Given the description of an element on the screen output the (x, y) to click on. 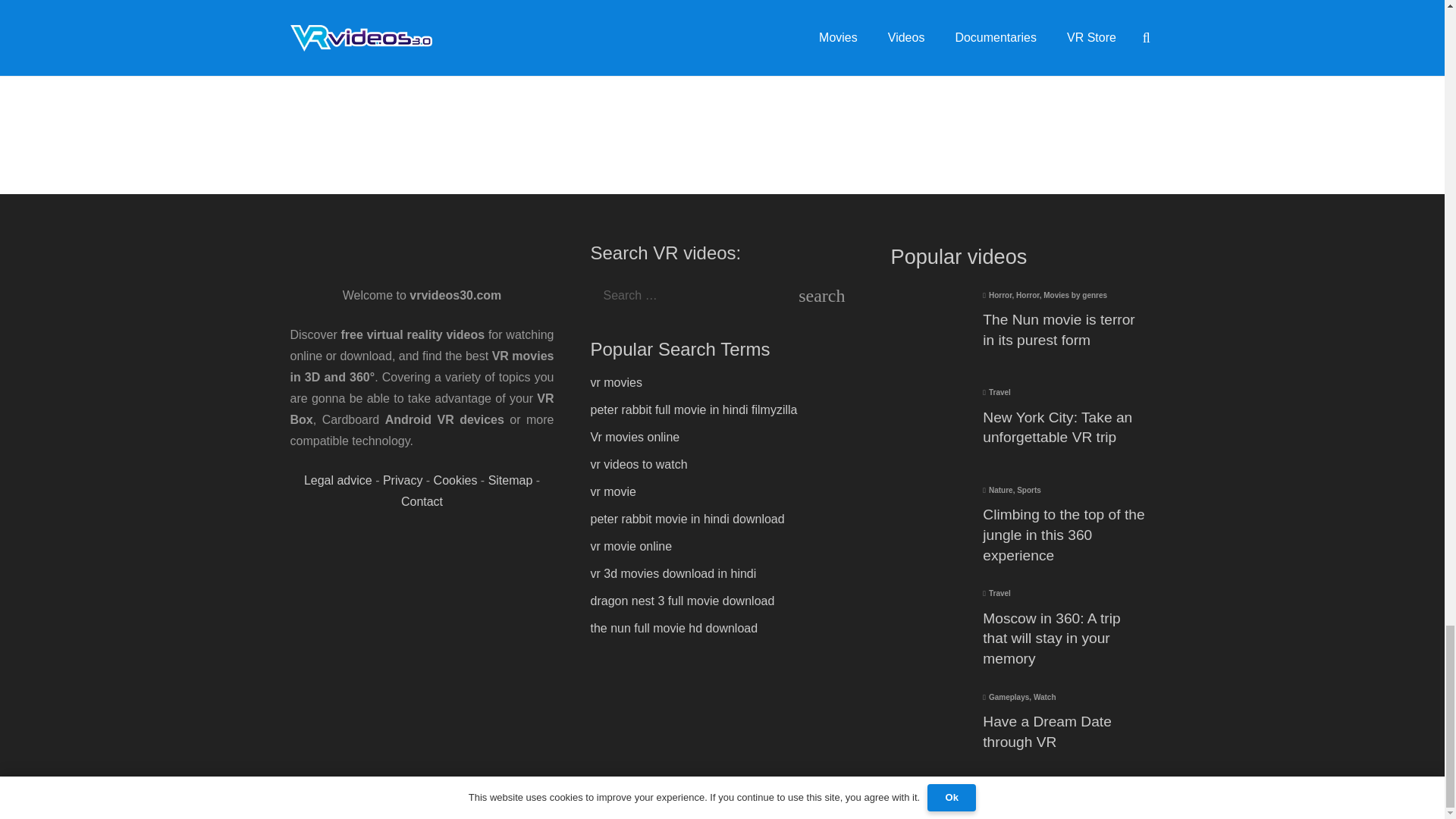
peter rabbit full movie in hindi filmyzilla (692, 409)
Sitemap (509, 480)
Vr movies online (634, 436)
the nun full movie hd download (673, 627)
Legal advice (338, 480)
Advertisement (721, 63)
vr movies (615, 382)
peter rabbit movie in hindi download (686, 518)
Cookies (455, 480)
vr videos to watch (638, 463)
dragon nest 3 full movie download (681, 600)
vr videos to watch (638, 463)
peter rabbit full movie in hindi filmyzilla (692, 409)
Vr movies online (634, 436)
Privacy (402, 480)
